Given the description of an element on the screen output the (x, y) to click on. 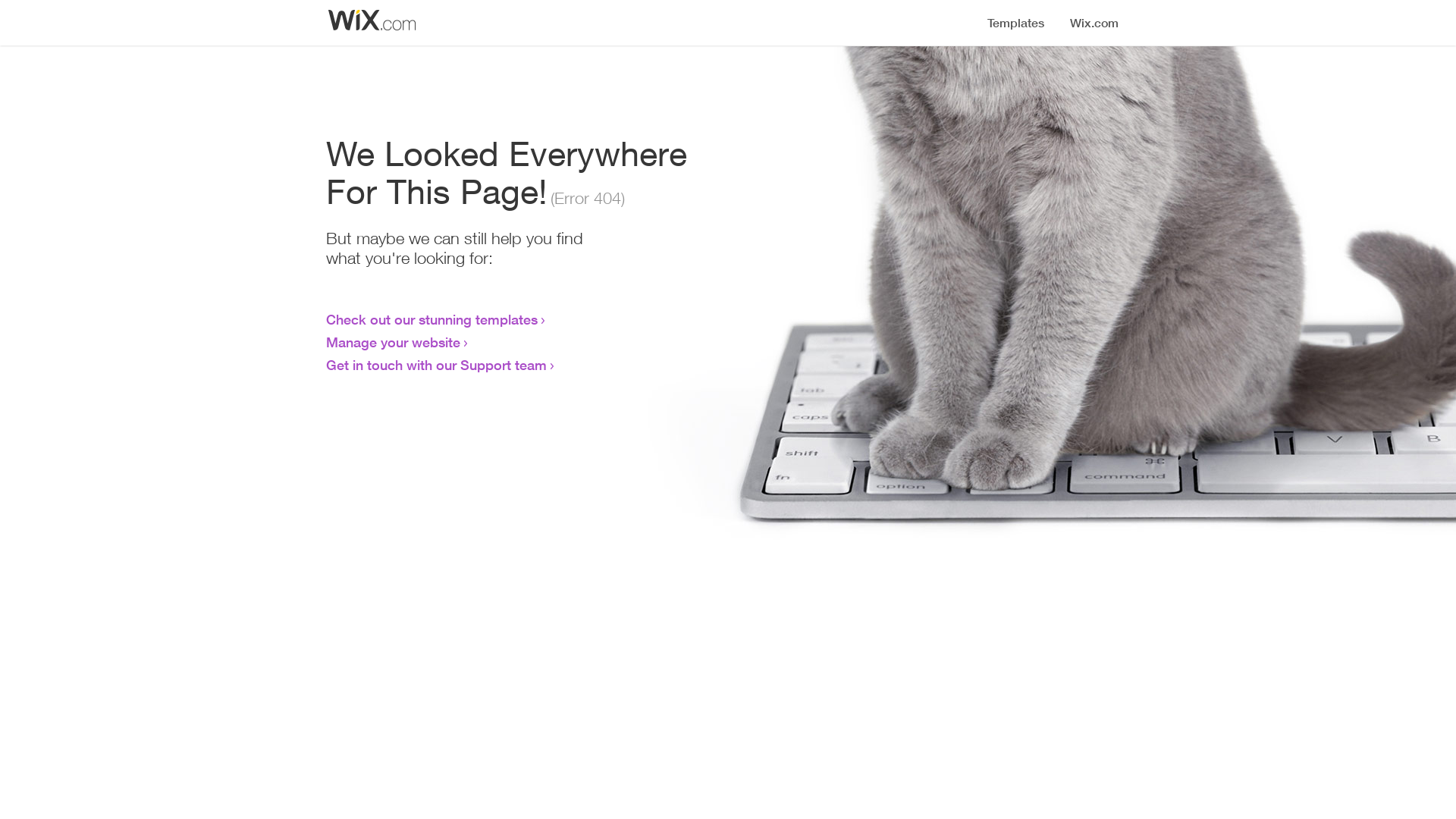
Get in touch with our Support team Element type: text (436, 364)
Manage your website Element type: text (393, 341)
Check out our stunning templates Element type: text (431, 318)
